Given the description of an element on the screen output the (x, y) to click on. 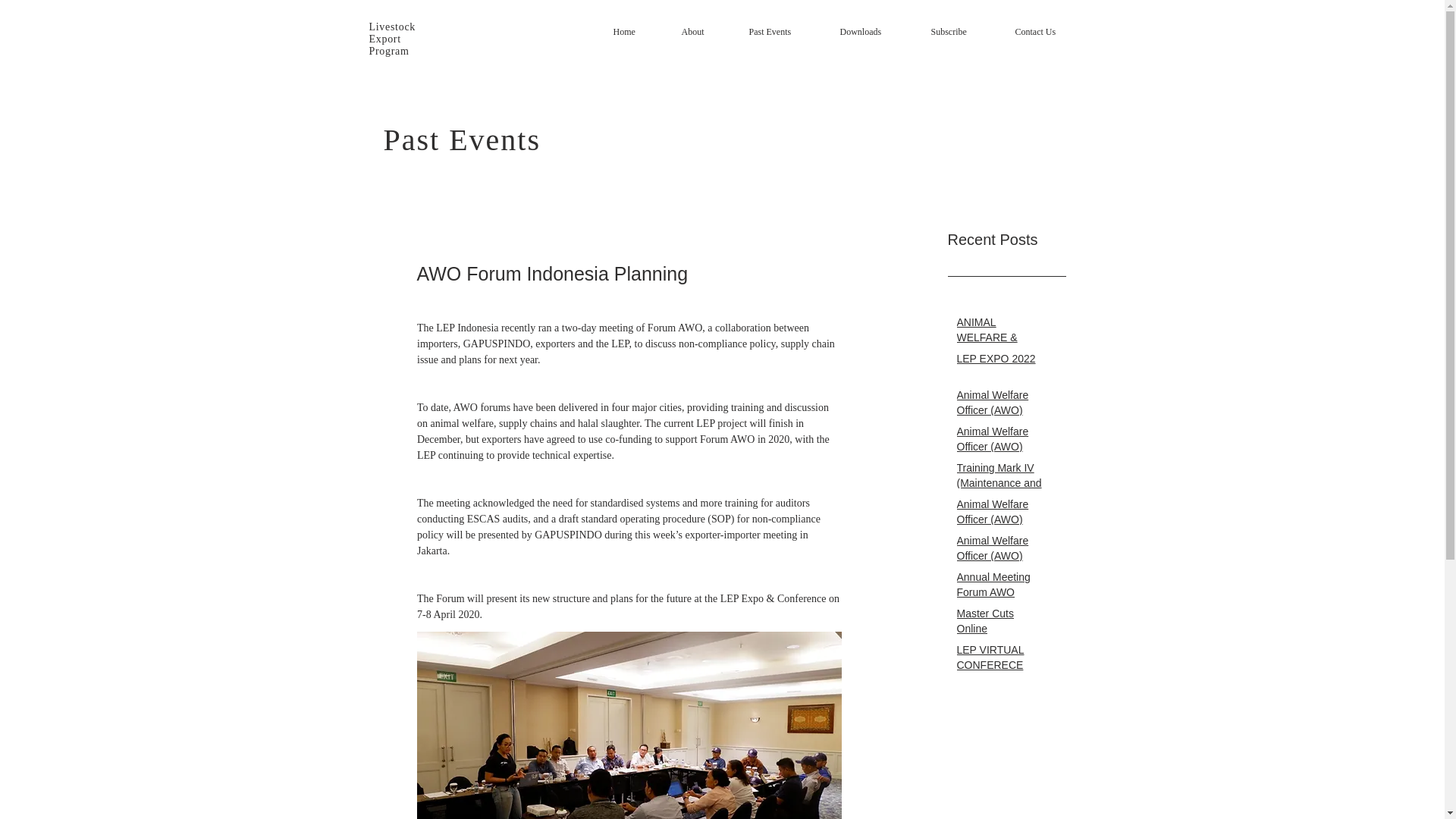
About (706, 31)
Contact Us (1051, 31)
Annual Meeting Forum AWO Indonesia (1001, 595)
Subscribe (965, 31)
LEP EXPO 2022 (1001, 362)
Downloads (877, 31)
Master Cuts Online (1001, 624)
Home (638, 31)
Livestock (391, 26)
LEP VIRTUAL CONFERECE 2020 (1001, 667)
Past Events (786, 31)
